Given the description of an element on the screen output the (x, y) to click on. 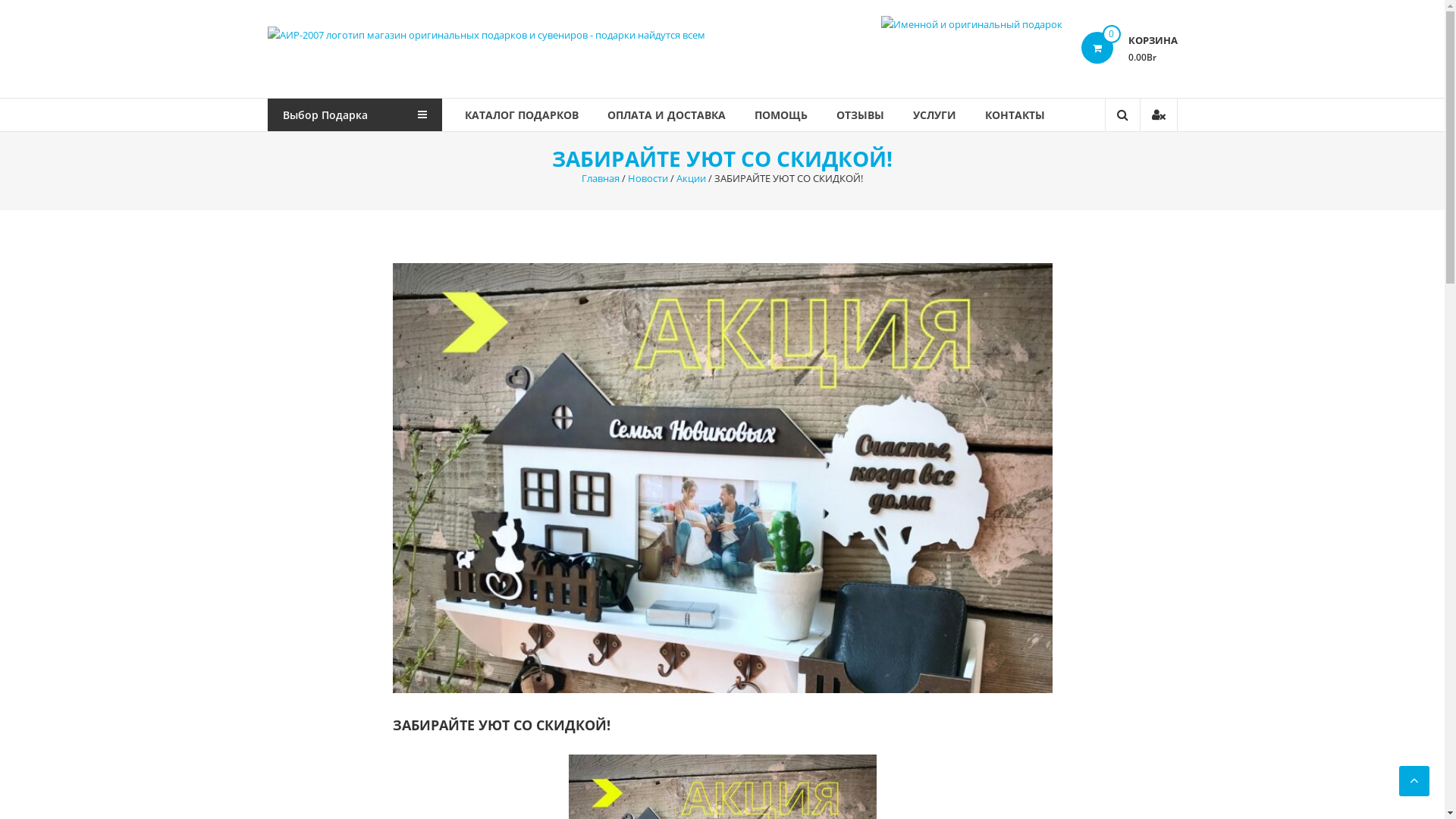
0 Element type: text (1097, 47)
